Given the description of an element on the screen output the (x, y) to click on. 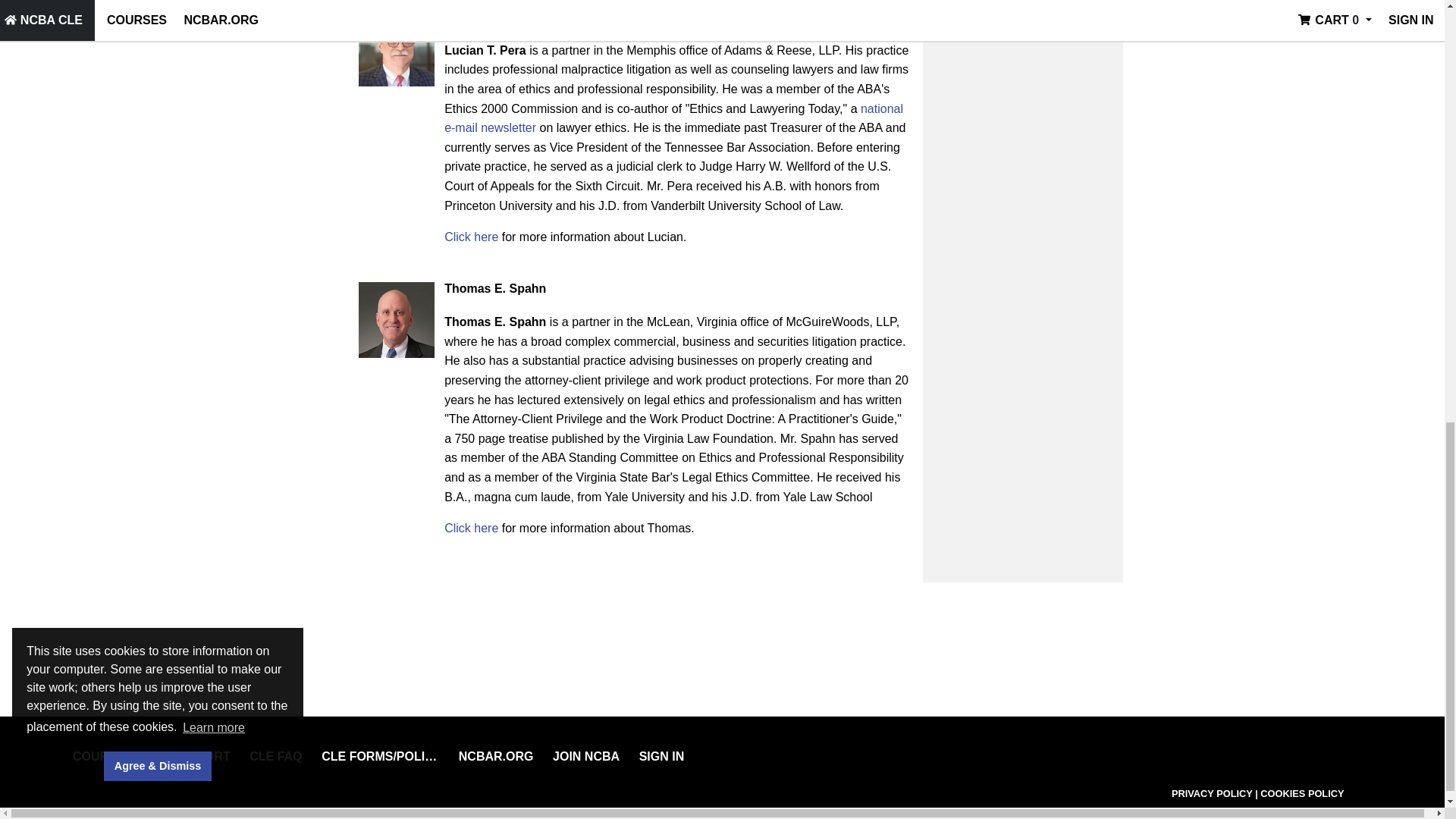
national e-mail newsletter (673, 118)
Click here (470, 236)
NCBAR.ORG (496, 756)
Join NCBA (586, 756)
Support (200, 756)
CLE FAQ (274, 756)
Courses (102, 756)
Click here (470, 527)
